Given the description of an element on the screen output the (x, y) to click on. 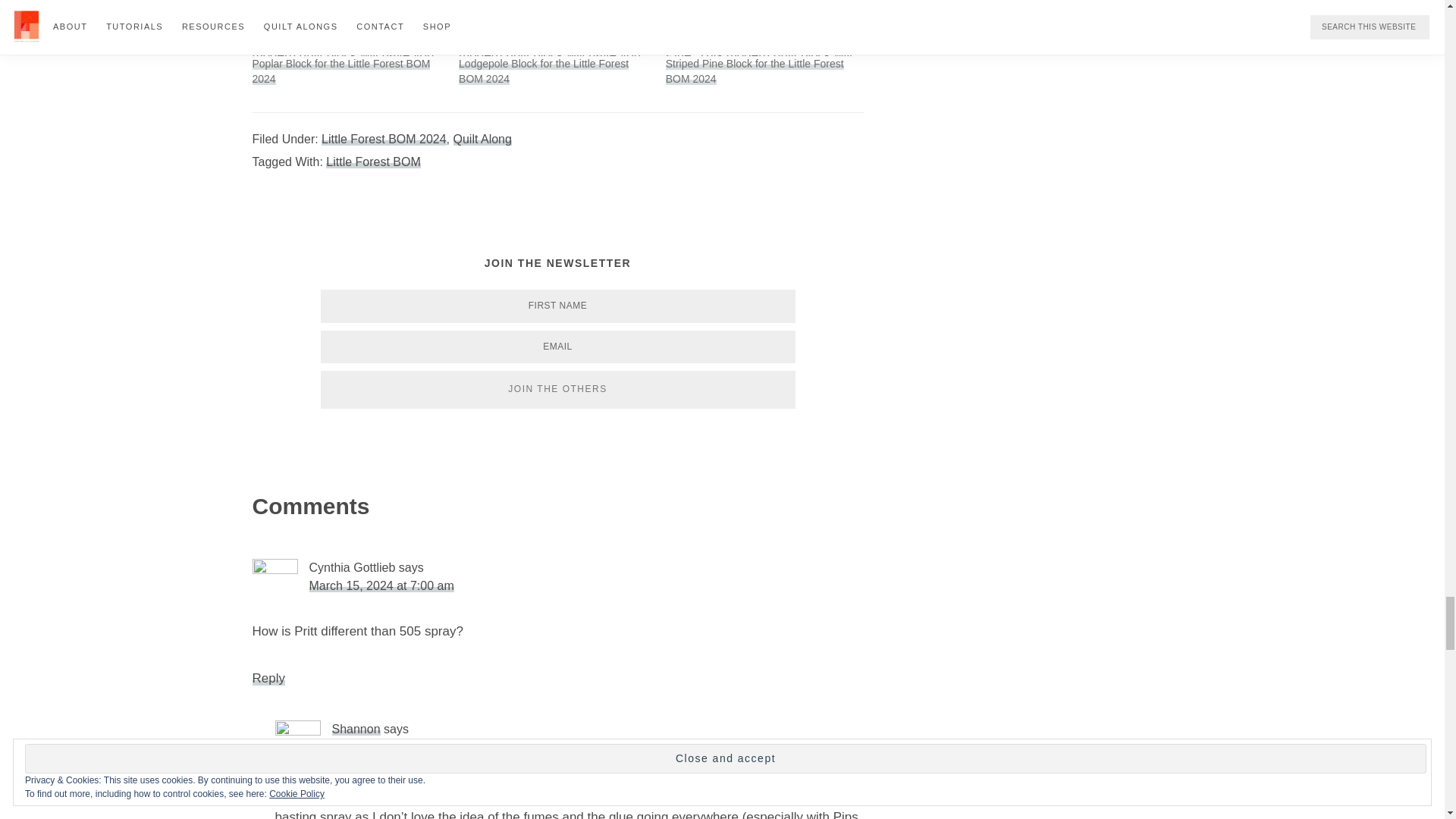
Join the Others (557, 389)
Striped Pine Block for the Little Forest BOM 2024 (754, 71)
Lodgepole Block for the Little Forest BOM 2024 (543, 71)
Poplar Block for the Little Forest BOM 2024 (340, 71)
Striped Pine Block for the Little Forest BOM 2024 (761, 28)
Poplar Block for the Little Forest BOM 2024 (347, 28)
Lodgepole Block for the Little Forest BOM 2024 (554, 28)
